Given the description of an element on the screen output the (x, y) to click on. 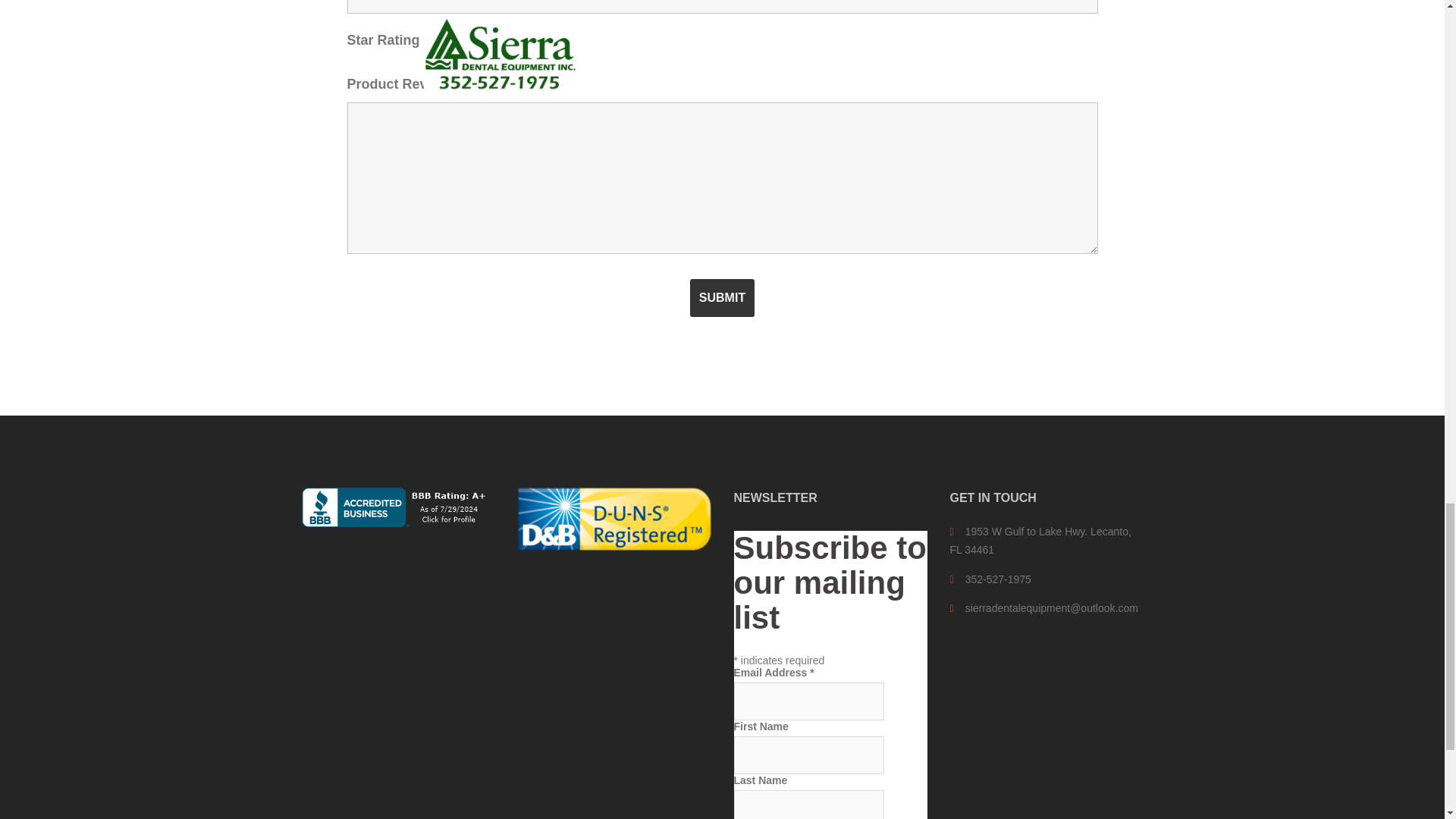
Submit (722, 297)
